Given the description of an element on the screen output the (x, y) to click on. 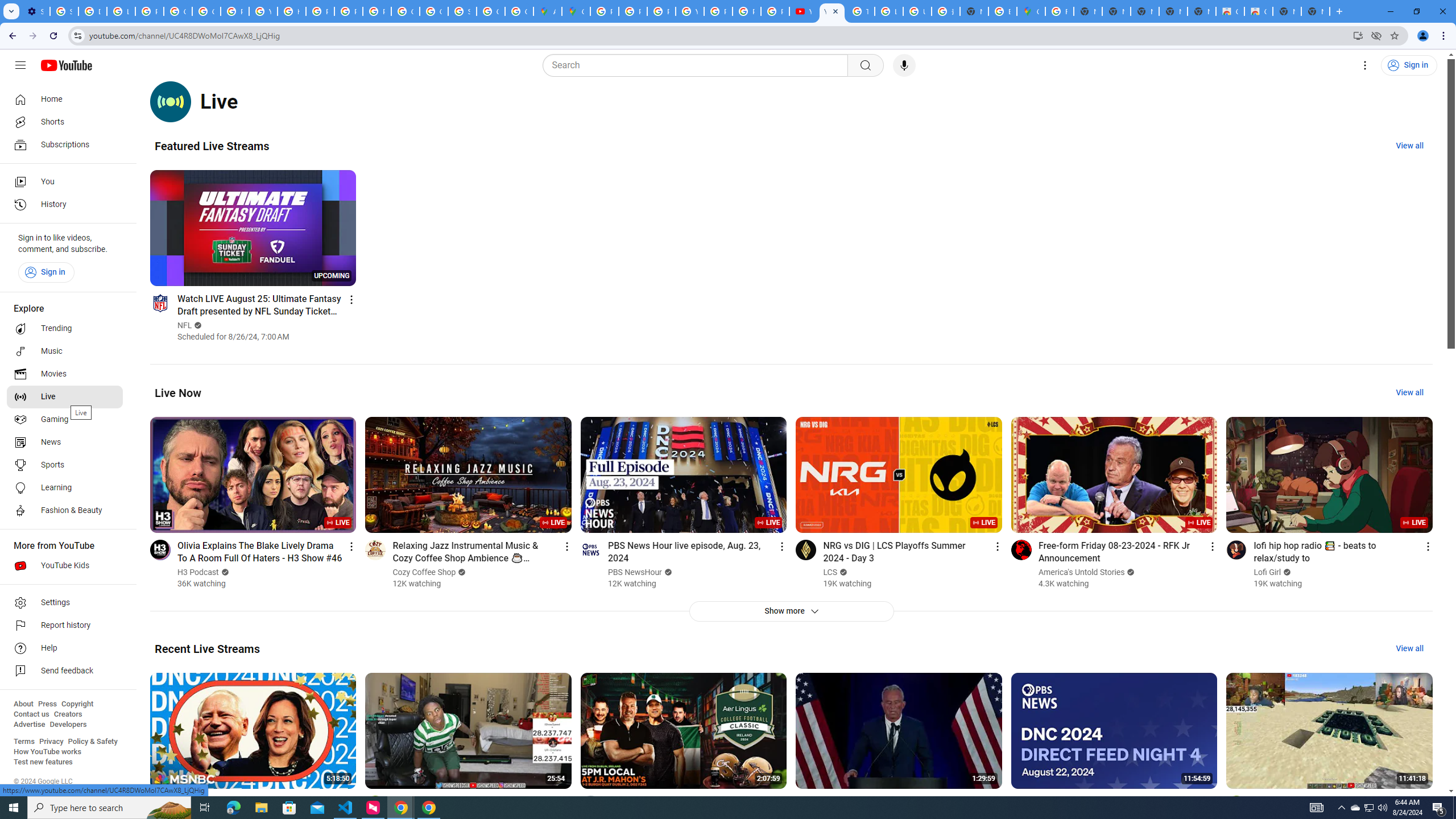
History (64, 204)
YouTube (263, 11)
YouTube (831, 11)
Verified (1286, 572)
H3 Podcast (198, 572)
Lofi Girl (1267, 572)
About (23, 703)
